Given the description of an element on the screen output the (x, y) to click on. 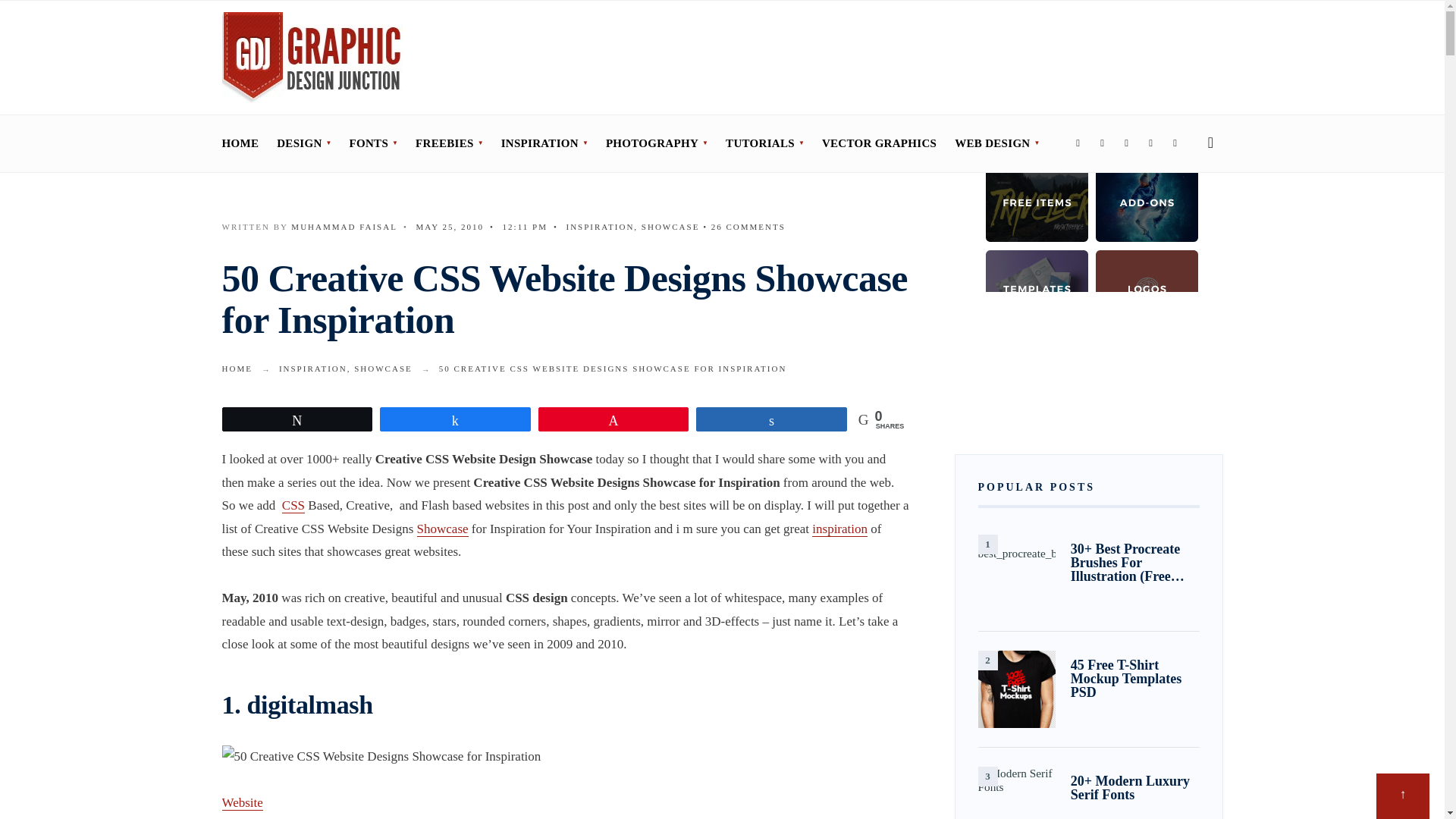
PHOTOGRAPHY (656, 143)
TUTORIALS (764, 143)
Pinterest (1150, 143)
VECTOR GRAPHICS (879, 143)
HOME (240, 143)
FONTS (373, 143)
INSPIRATION (544, 143)
Dribbble (1175, 143)
Posts by Muhammad Faisal (344, 225)
Twitter (1102, 143)
